Given the description of an element on the screen output the (x, y) to click on. 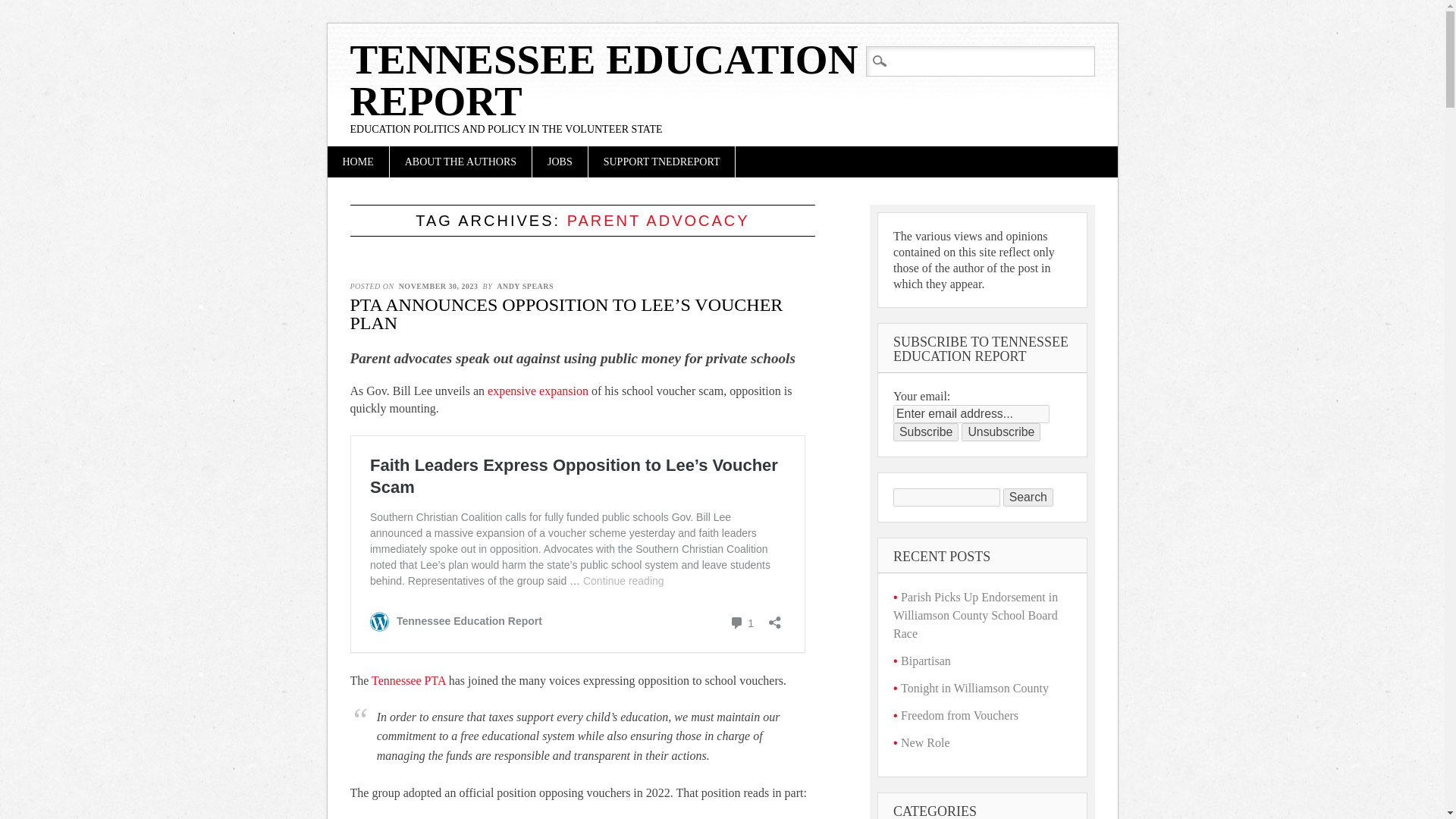
Enter email address... (971, 413)
4:39 pm (438, 285)
expensive expansion (537, 390)
ANDY SPEARS (525, 285)
View all posts by Andy Spears (525, 285)
ABOUT THE AUTHORS (460, 161)
Subscribe (925, 432)
Subscribe (925, 432)
Search (24, 9)
Search (1027, 497)
Tennessee Education Report (604, 80)
SUPPORT TNEDREPORT (661, 161)
HOME (357, 161)
Bipartisan (925, 660)
